Given the description of an element on the screen output the (x, y) to click on. 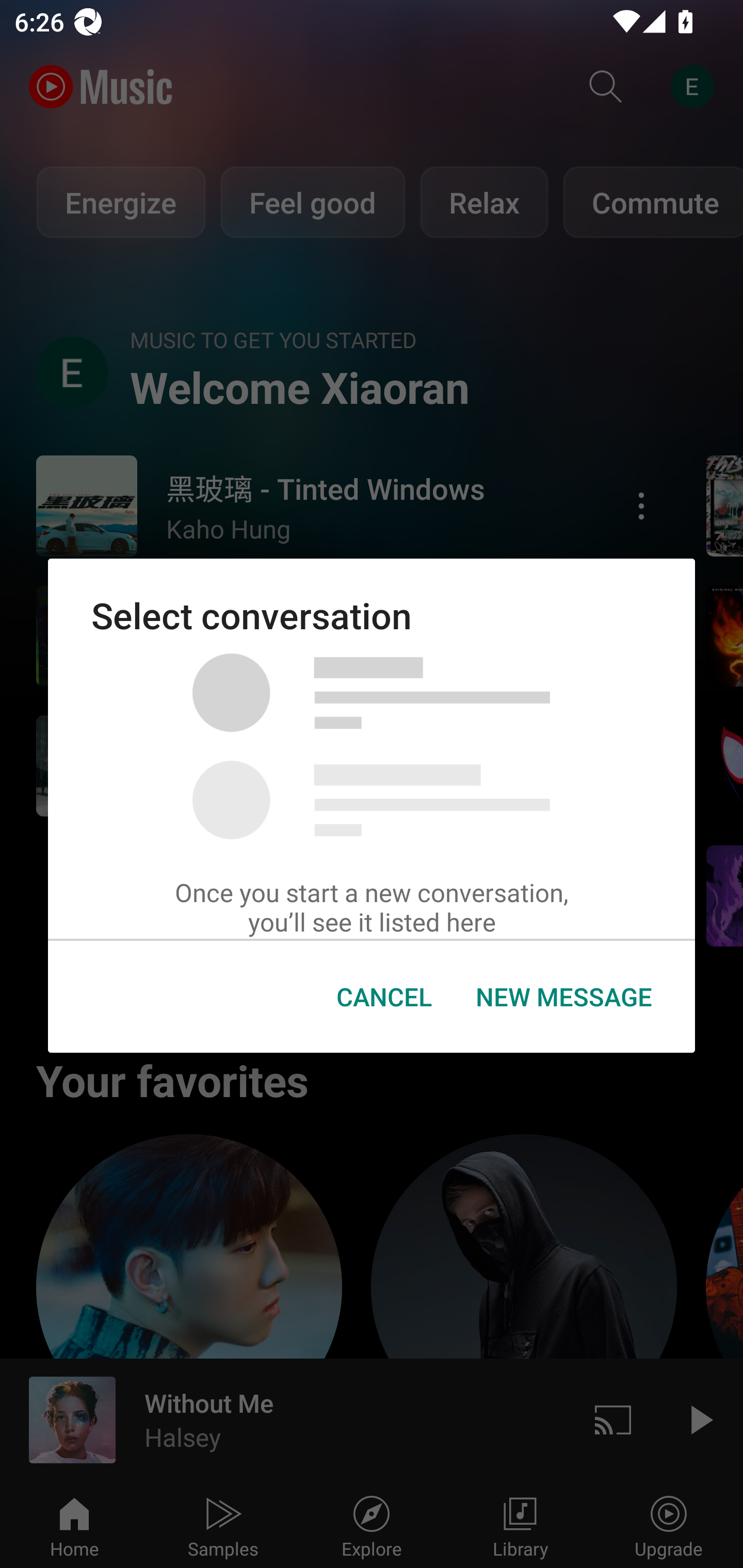
CANCEL (384, 996)
NEW MESSAGE (563, 996)
